Given the description of an element on the screen output the (x, y) to click on. 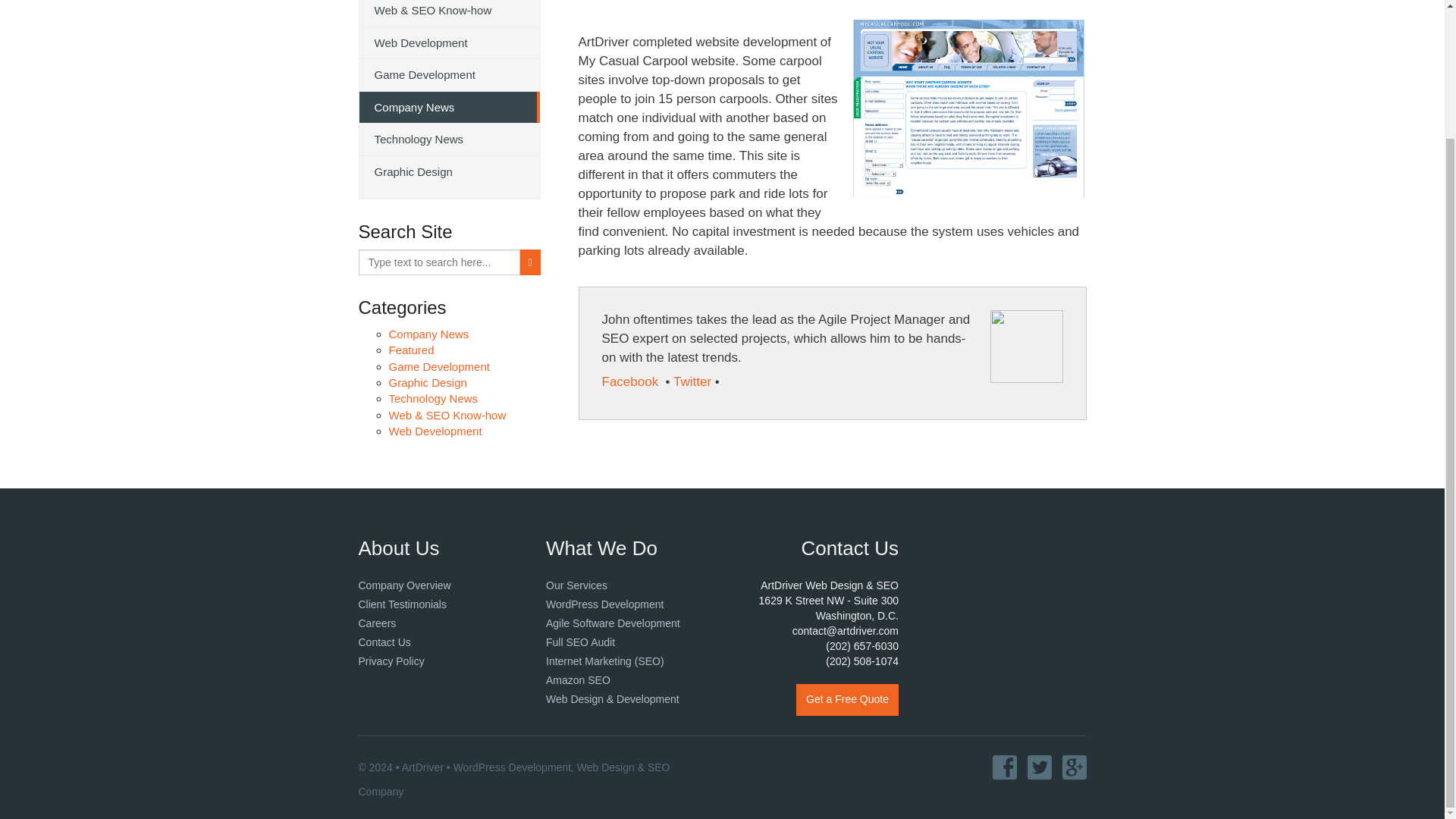
Facebook (632, 381)
Featured (410, 349)
Company Overview (403, 585)
Company News (428, 333)
Web Development (449, 42)
My Casual Carpool Website (968, 108)
Technology News (432, 398)
Custom Web Development (612, 698)
Web Development, Software Development and SEO Services (576, 585)
Careers (377, 623)
